Given the description of an element on the screen output the (x, y) to click on. 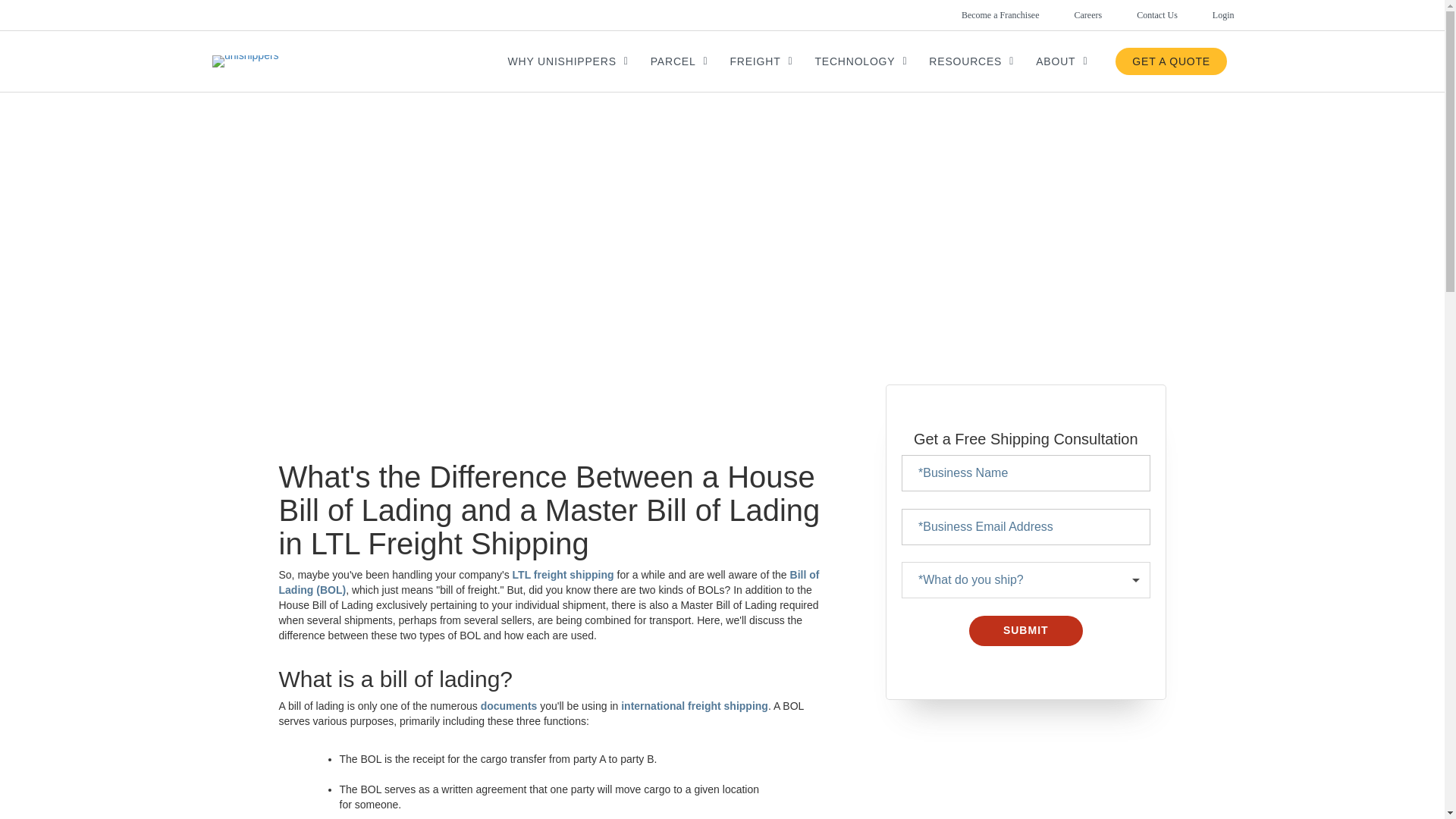
Become a Franchisee (983, 15)
Login (1205, 15)
PARCEL (679, 61)
Contact Us (1139, 15)
Careers (1071, 15)
WHY UNISHIPPERS (568, 61)
FREIGHT (761, 61)
RESOURCES (971, 61)
TECHNOLOGY (860, 61)
